Given the description of an element on the screen output the (x, y) to click on. 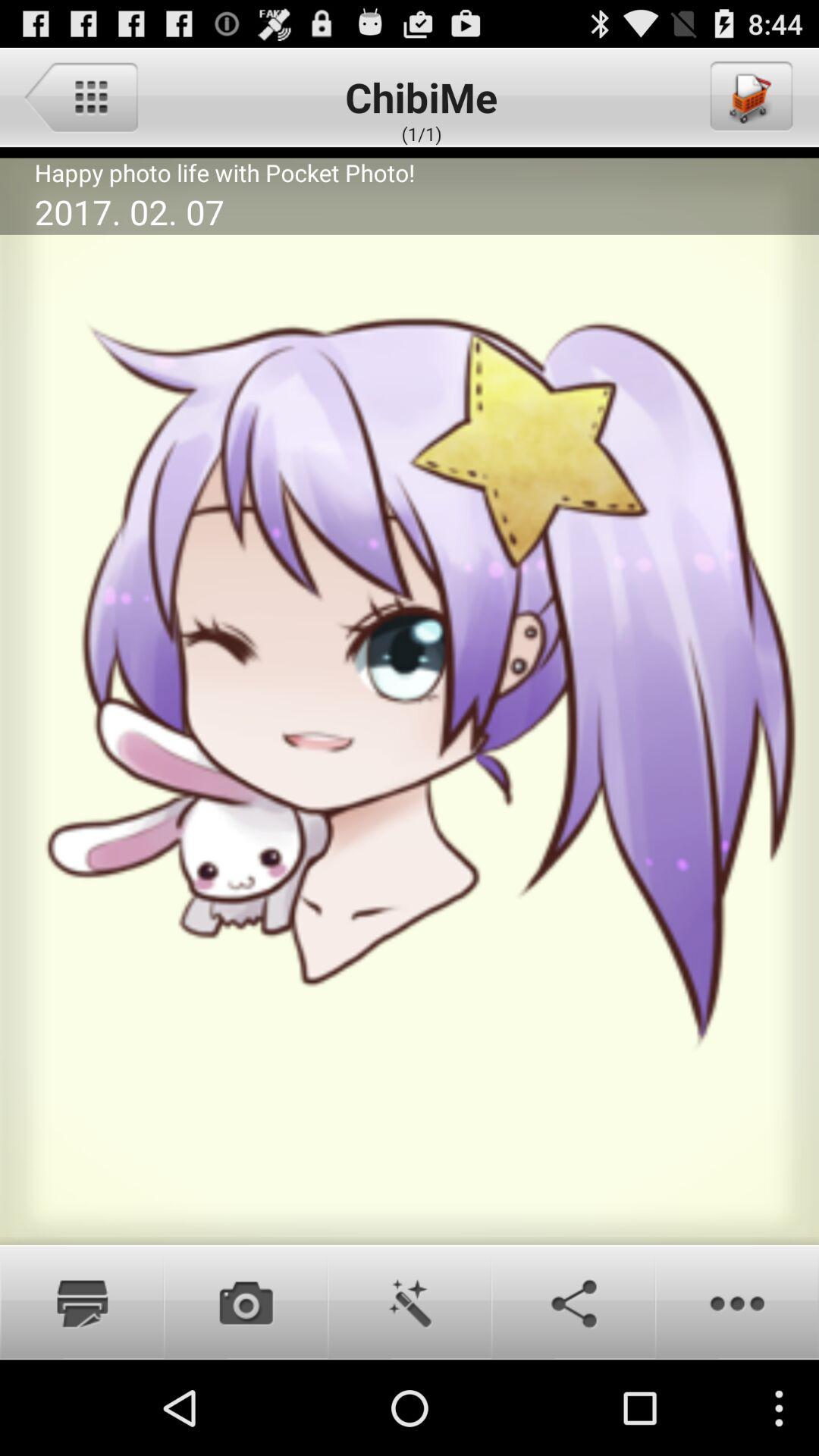
select camera (245, 1301)
